Given the description of an element on the screen output the (x, y) to click on. 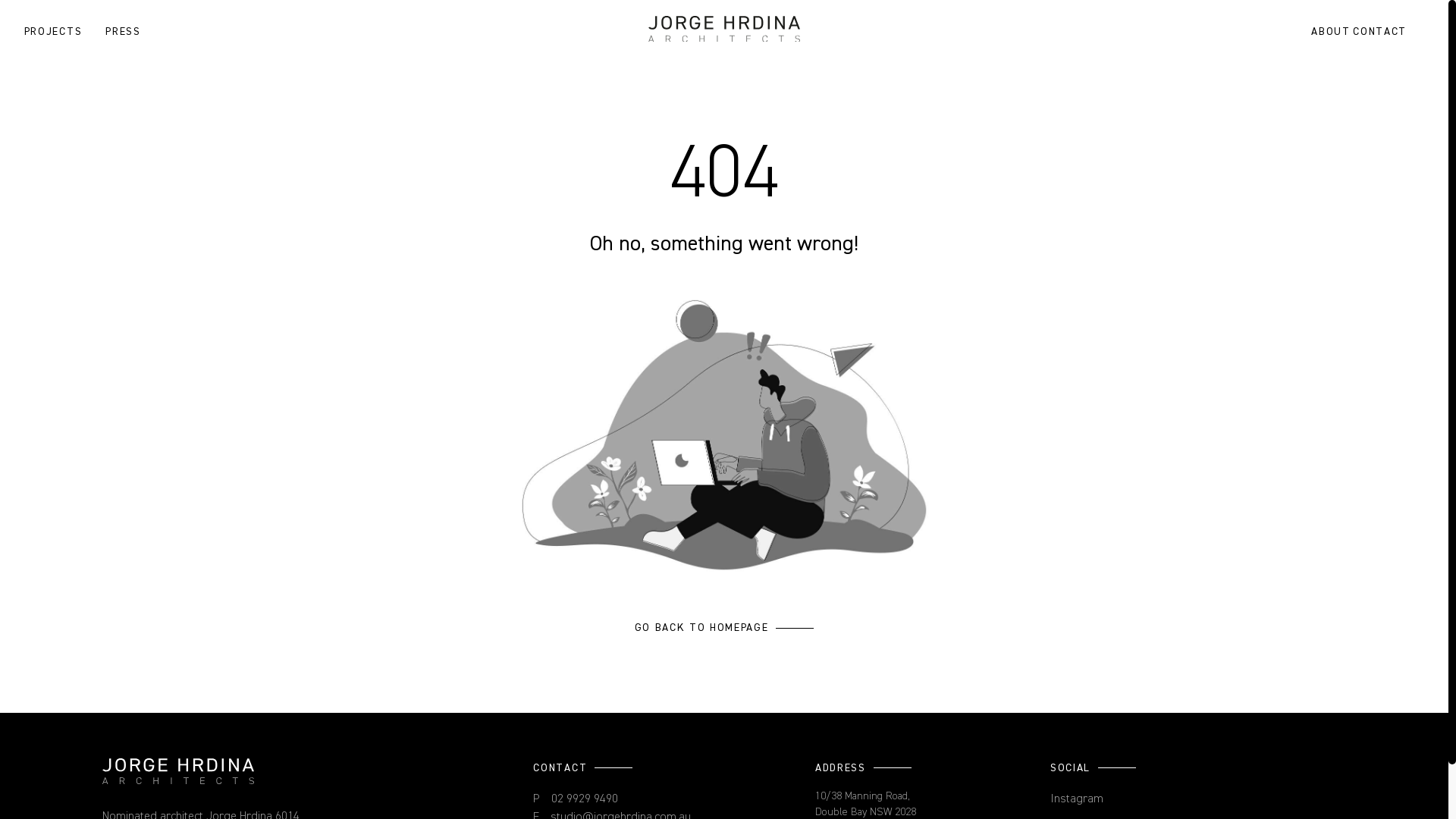
PRESS Element type: text (123, 31)
Instagram Element type: text (1076, 798)
Error Element type: hover (723, 434)
ABOUT Element type: text (1330, 31)
CONTACT Element type: text (1376, 31)
PROJECTS Element type: text (52, 31)
GO BACK TO HOMEPAGE Element type: text (724, 627)
Jorge Hrdina Element type: hover (178, 771)
02 9929 9490 Element type: text (584, 798)
